Given the description of an element on the screen output the (x, y) to click on. 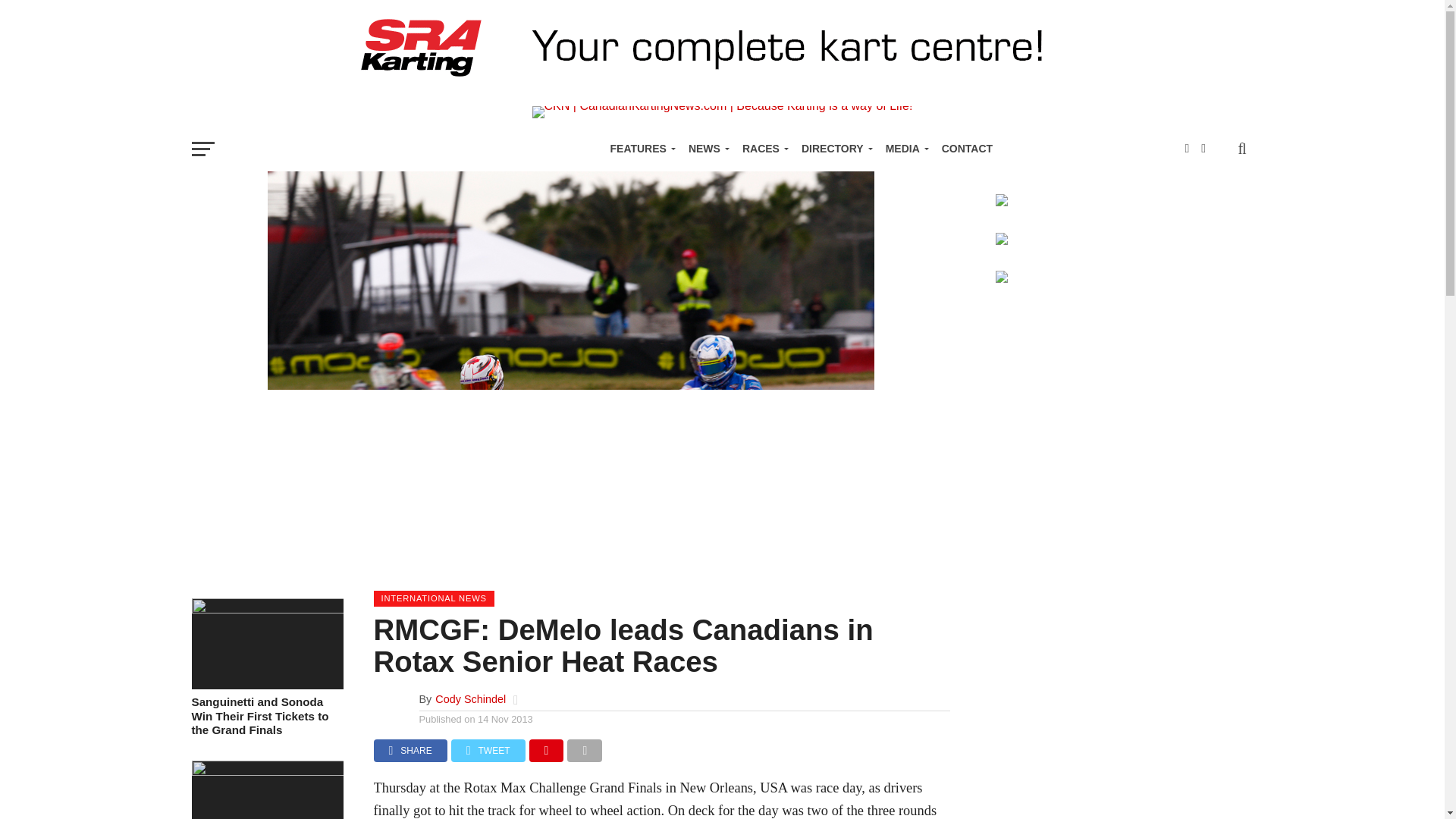
SRA Karting (721, 86)
Tight Battle in DD2 Culminates with Pernod as Champion (266, 771)
Posts by Cody Schindel (470, 698)
NEWS (706, 148)
FEATURES (638, 148)
